Given the description of an element on the screen output the (x, y) to click on. 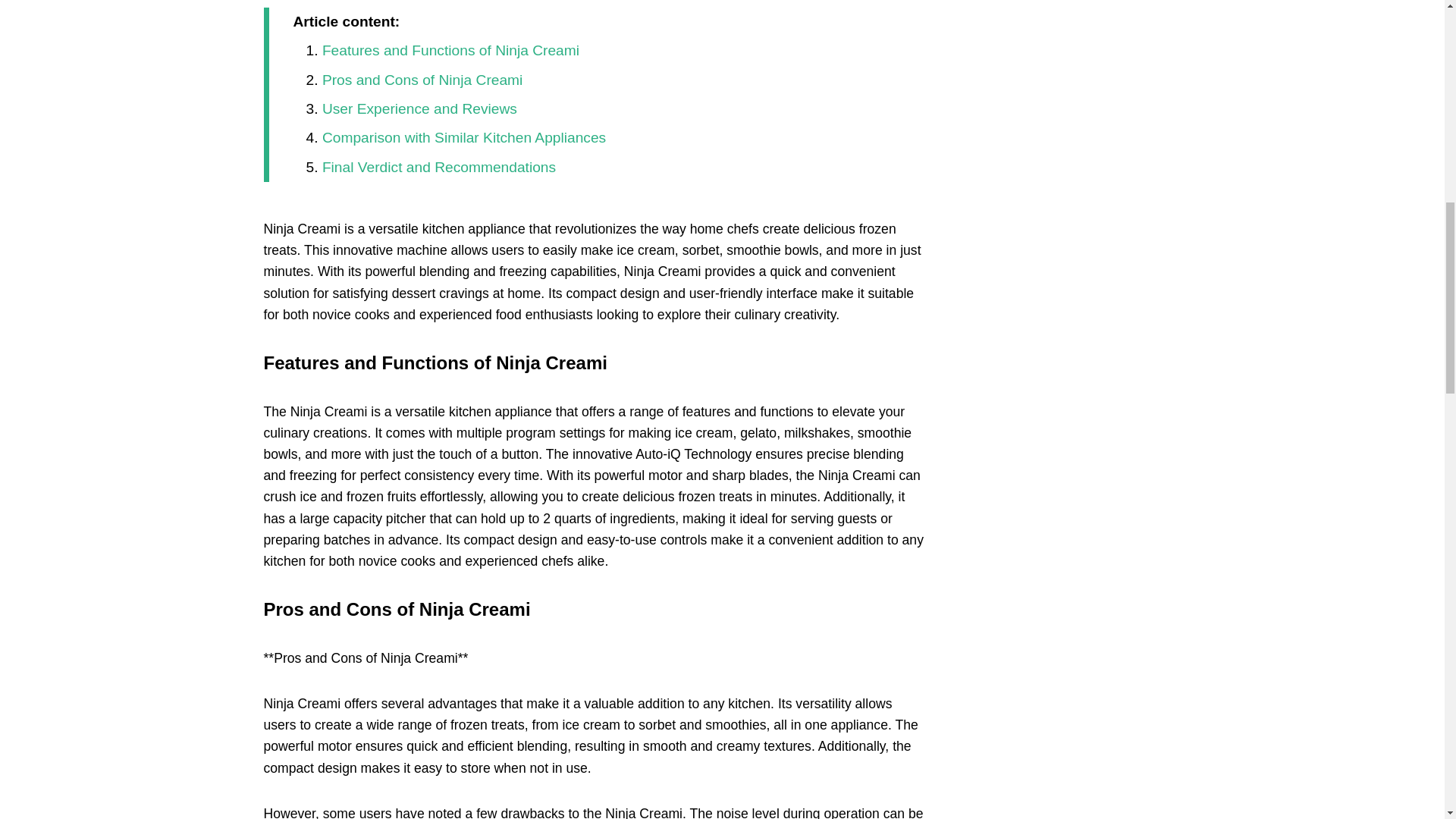
Pros and Cons of Ninja Creami (421, 79)
Features and Functions of Ninja Creami (450, 50)
User Experience and Reviews (418, 108)
Comparison with Similar Kitchen Appliances (463, 137)
Final Verdict and Recommendations (438, 166)
